Given the description of an element on the screen output the (x, y) to click on. 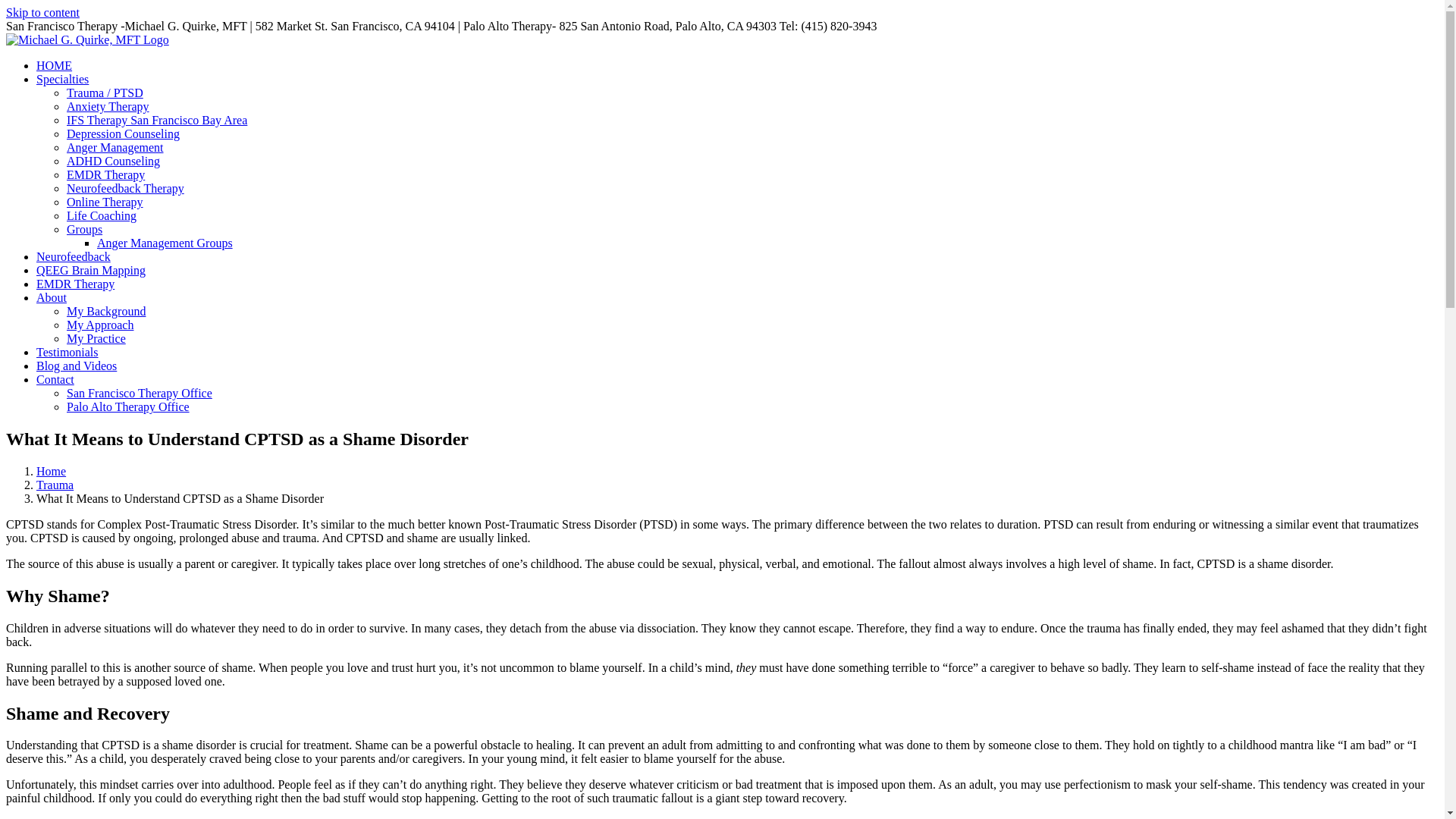
HOME (53, 65)
Life Coaching (101, 215)
Anger Management (114, 146)
Anxiety Therapy (107, 106)
Anger Management Groups (164, 242)
Contact (55, 379)
QEEG Brain Mapping (90, 269)
Specialties (62, 78)
Neurofeedback (73, 256)
Neurofeedback Therapy (125, 187)
